Given the description of an element on the screen output the (x, y) to click on. 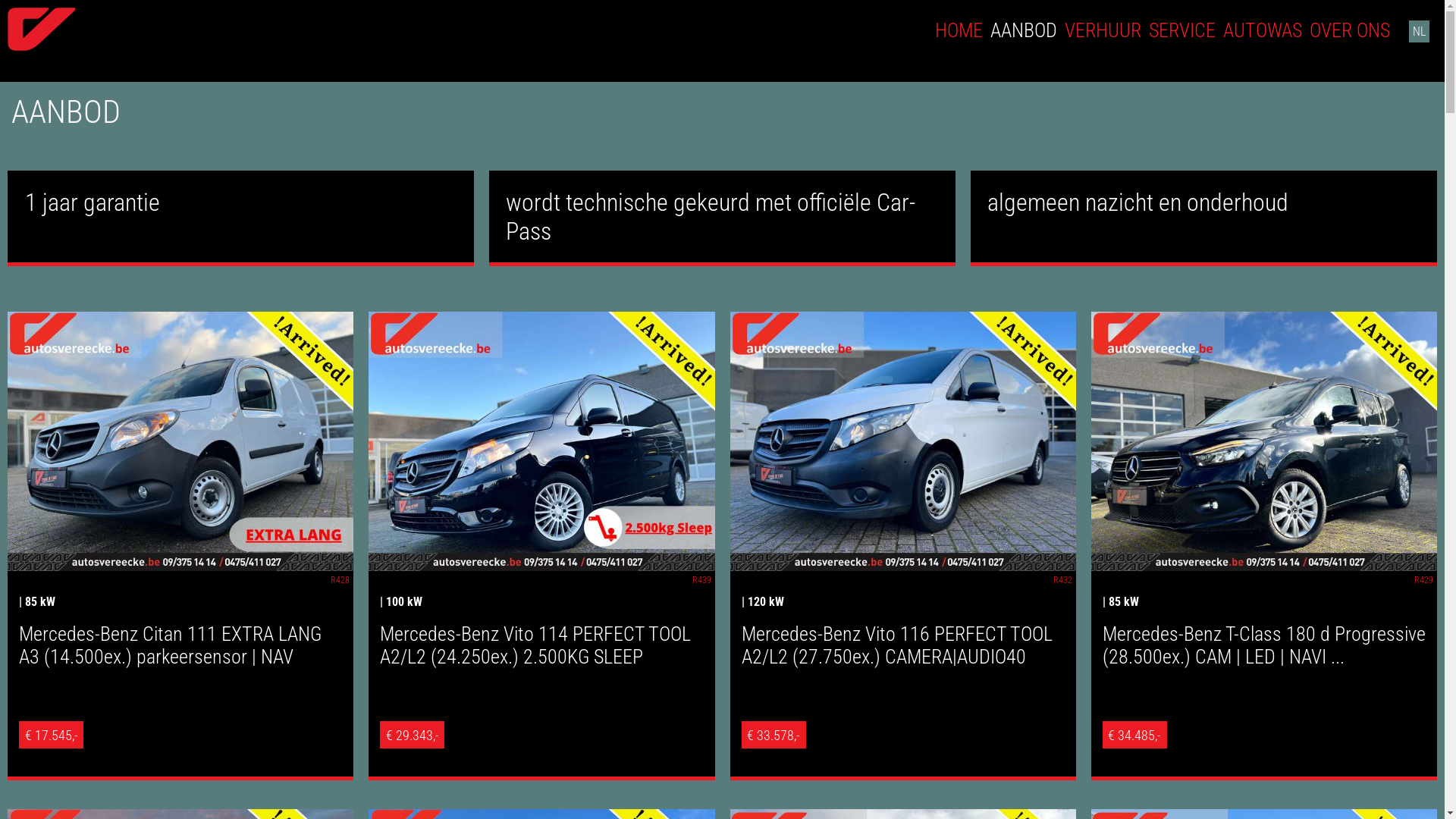
R428 Element type: text (339, 579)
R429 Element type: text (1423, 579)
AANBOD Element type: text (1023, 29)
R439 Element type: text (700, 579)
HOME Element type: text (958, 29)
R432 Element type: text (1062, 579)
AUTOWAS Element type: text (1262, 29)
VERHUUR Element type: text (1102, 29)
OVER ONS Element type: text (1349, 29)
SERVICE Element type: text (1181, 29)
